Given the description of an element on the screen output the (x, y) to click on. 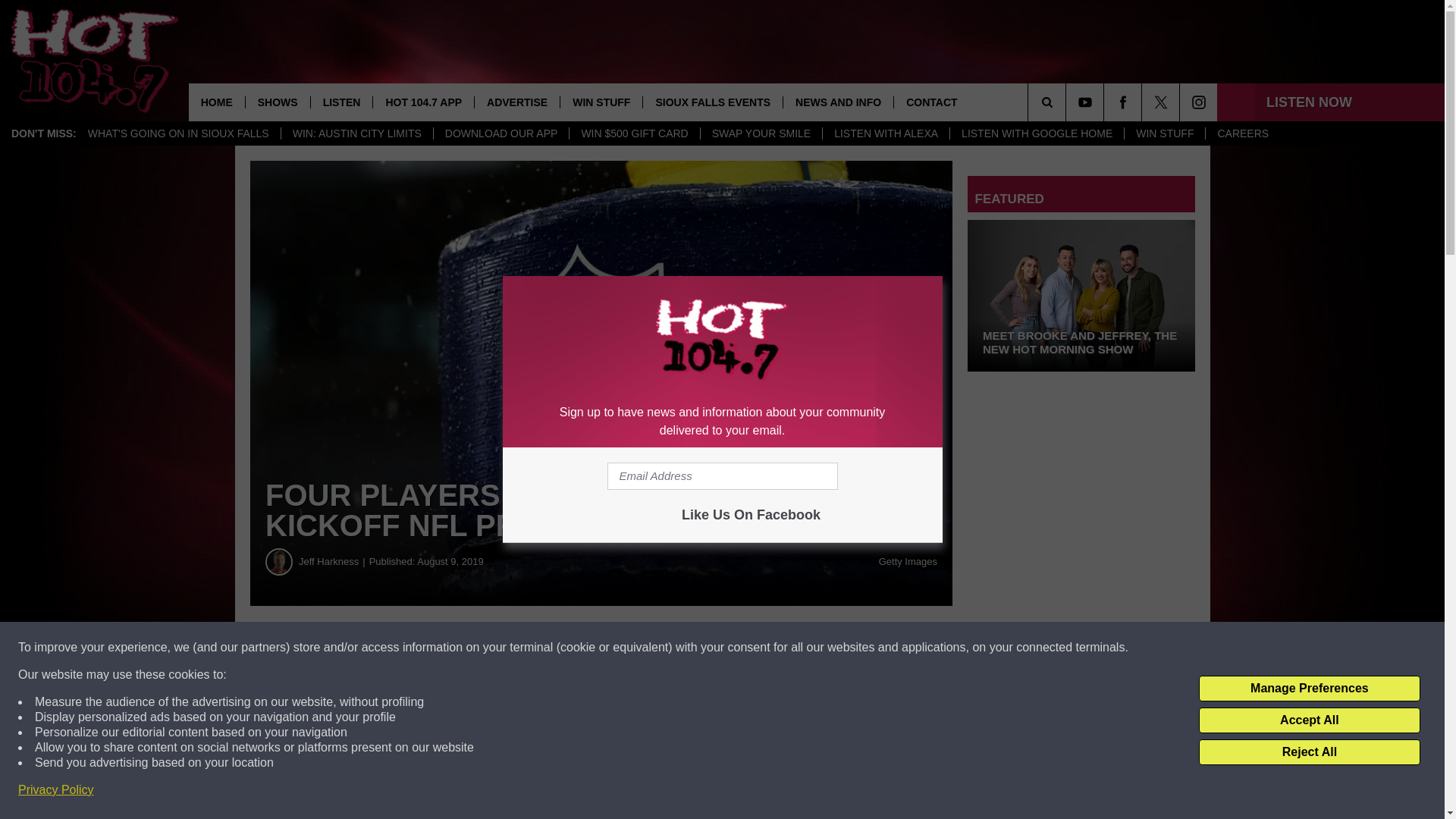
ADVERTISE (516, 102)
SWAP YOUR SMILE (761, 133)
SEARCH (1068, 102)
Privacy Policy (55, 789)
Accept All (1309, 720)
Email Address (722, 475)
WIN: AUSTIN CITY LIMITS (356, 133)
WHAT'S GOING ON IN SIOUX FALLS (179, 133)
WIN STUFF (600, 102)
WIN STUFF (1164, 133)
Reject All (1309, 751)
LISTEN WITH GOOGLE HOME (1036, 133)
LISTEN (341, 102)
Share on Twitter (741, 647)
HOT 104.7 APP (423, 102)
